Given the description of an element on the screen output the (x, y) to click on. 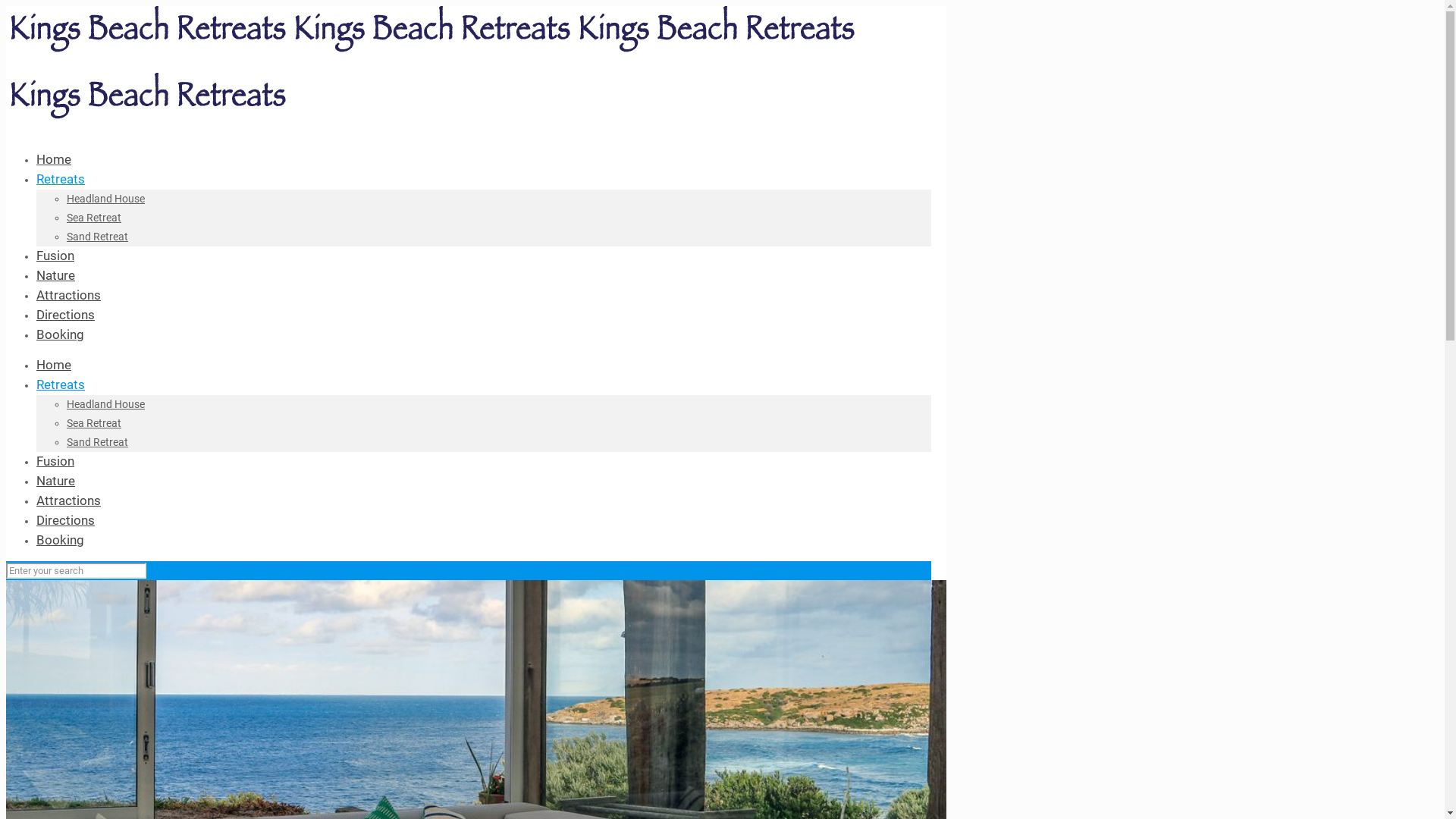
Booking Element type: text (60, 539)
Home Element type: text (53, 364)
Booking Element type: text (60, 334)
Attractions Element type: text (68, 500)
Kings Beach Retreats Element type: hover (432, 83)
Sea Retreat Element type: text (93, 217)
Retreats Element type: text (60, 384)
Nature Element type: text (55, 480)
Nature Element type: text (55, 275)
Directions Element type: text (65, 314)
Directions Element type: text (65, 520)
Fusion Element type: text (55, 461)
Attractions Element type: text (68, 294)
Fusion Element type: text (55, 255)
Retreats Element type: text (60, 178)
Home Element type: text (53, 159)
Sand Retreat Element type: text (97, 442)
Headland House Element type: text (105, 198)
Headland House Element type: text (105, 404)
Sand Retreat Element type: text (97, 236)
Sea Retreat Element type: text (93, 423)
